Given the description of an element on the screen output the (x, y) to click on. 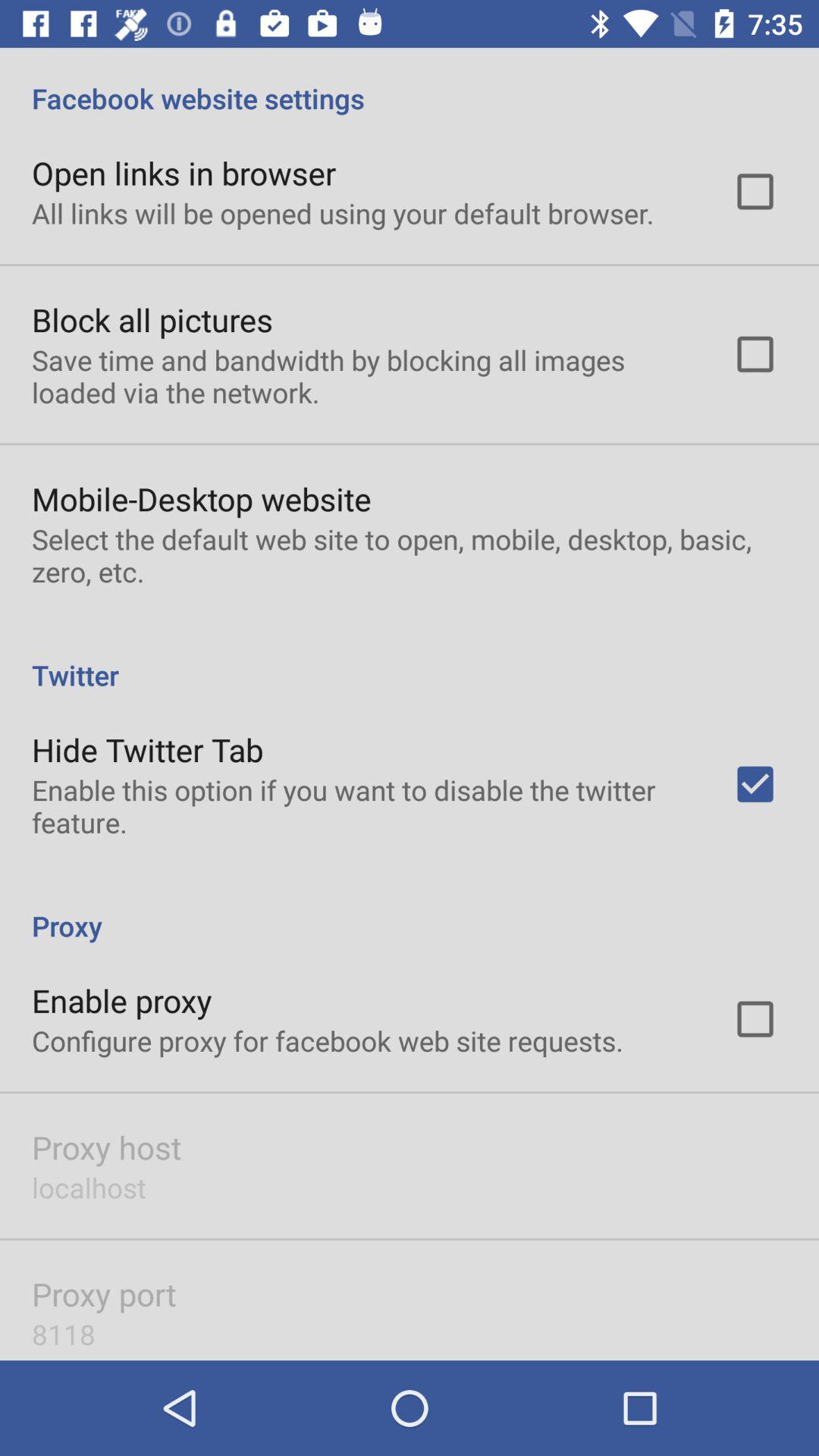
click on the first checkbox (755, 192)
